Given the description of an element on the screen output the (x, y) to click on. 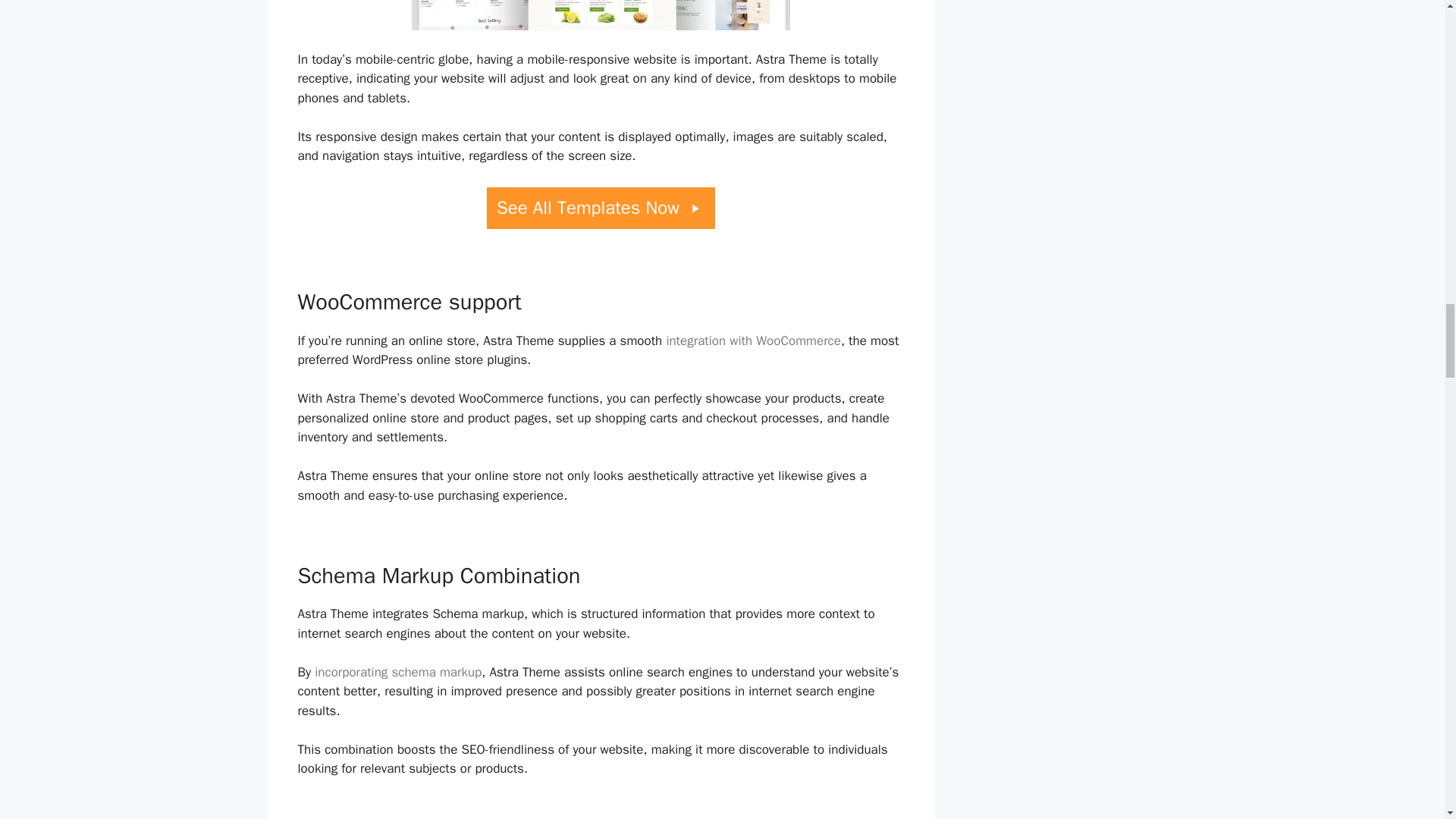
integration with WooCommerce (753, 340)
incorporating schema markup (397, 672)
See All Templates Now (600, 208)
